Given the description of an element on the screen output the (x, y) to click on. 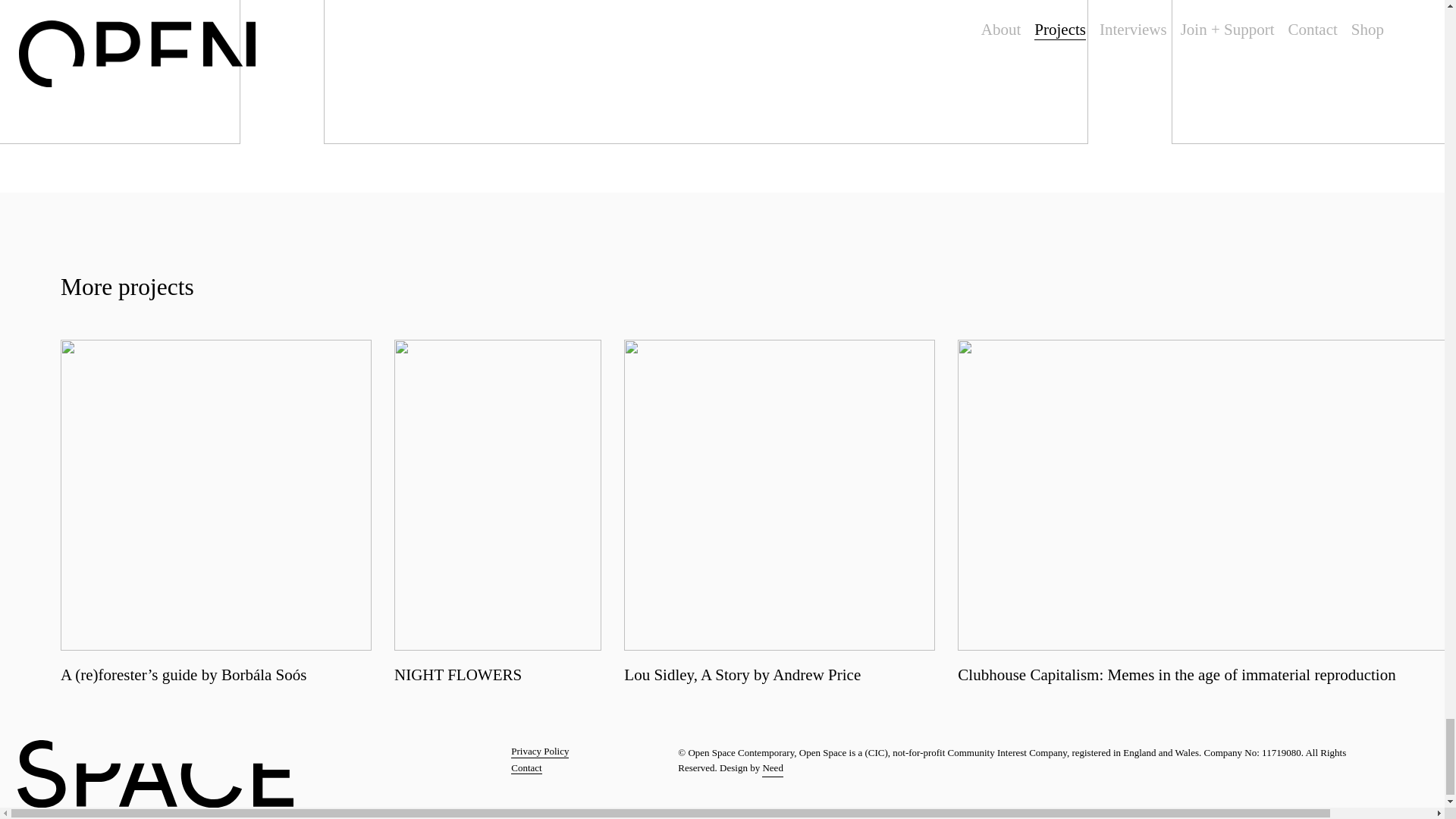
Need (772, 768)
Privacy Policy (540, 751)
Lou Sidley, A Story by Andrew Price (779, 511)
Contact (526, 768)
